Given the description of an element on the screen output the (x, y) to click on. 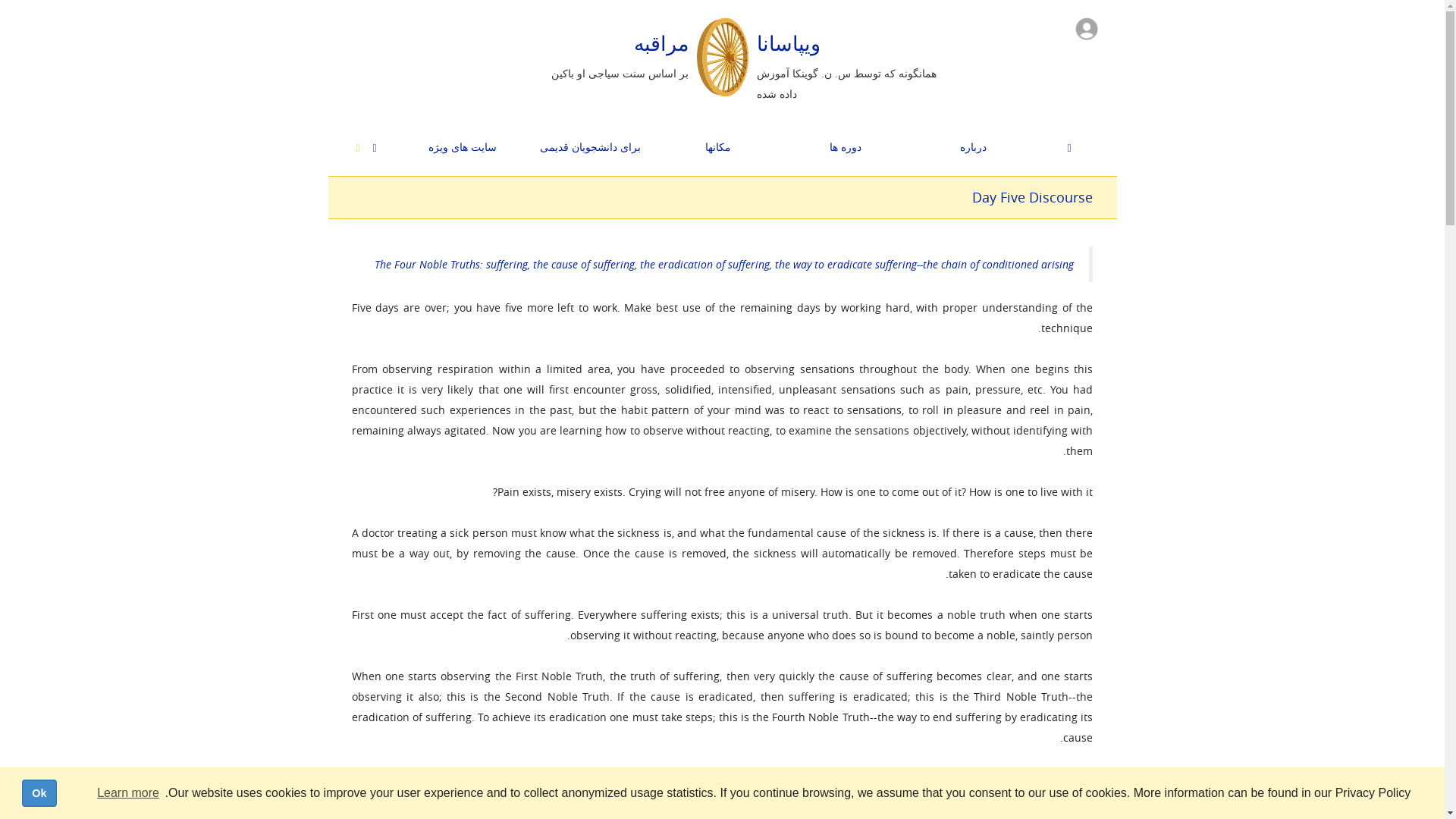
Ok (38, 792)
Learn more (127, 793)
